Given the description of an element on the screen output the (x, y) to click on. 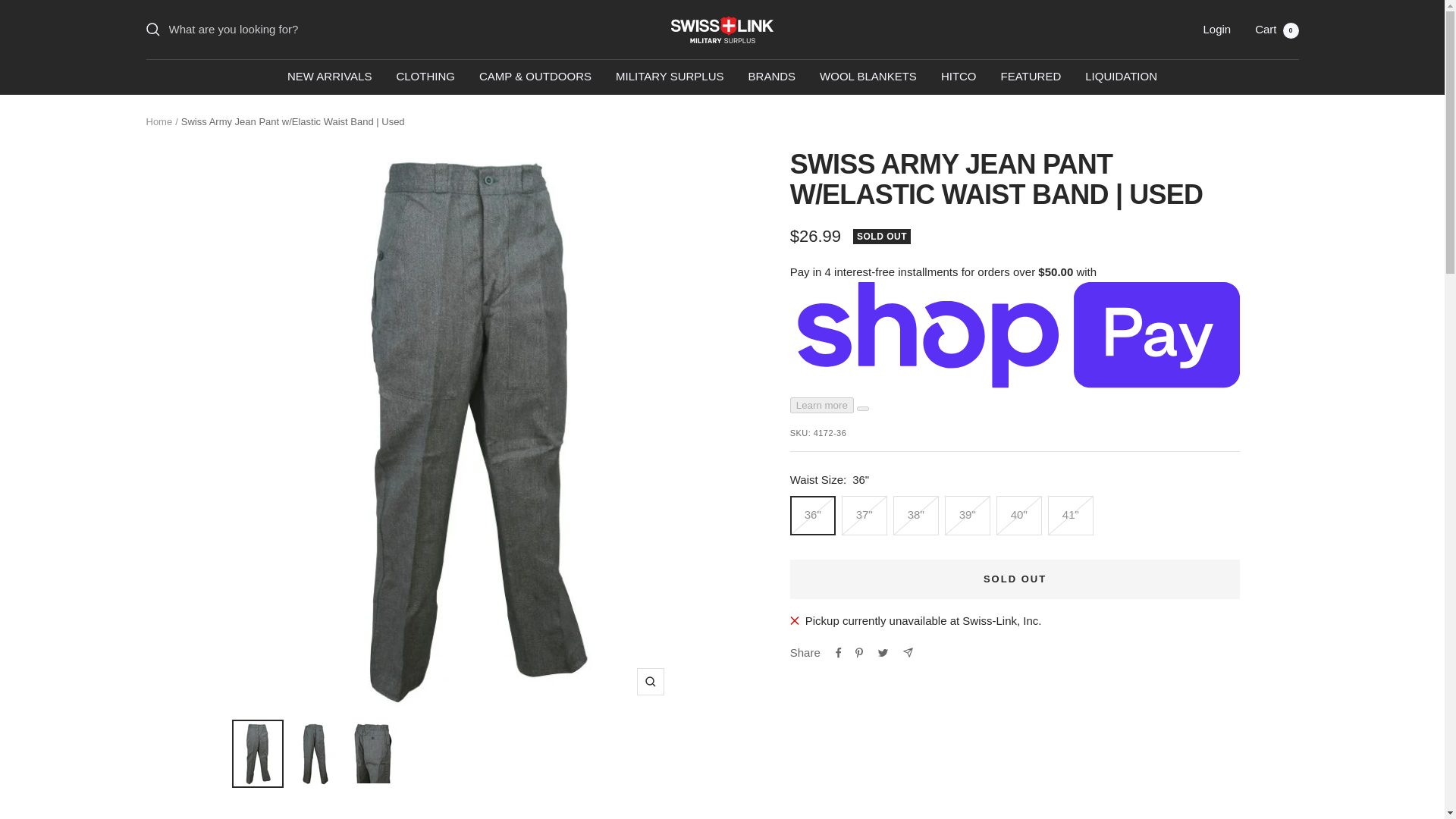
Home (158, 121)
WOOL BLANKETS (868, 76)
FEATURED (1031, 76)
SOLD OUT (1015, 578)
LIQUIDATION (1120, 76)
Login (1216, 29)
HITCO (958, 76)
BRANDS (772, 76)
Swiss Link Military Surplus (722, 29)
MILITARY SURPLUS (669, 76)
